Given the description of an element on the screen output the (x, y) to click on. 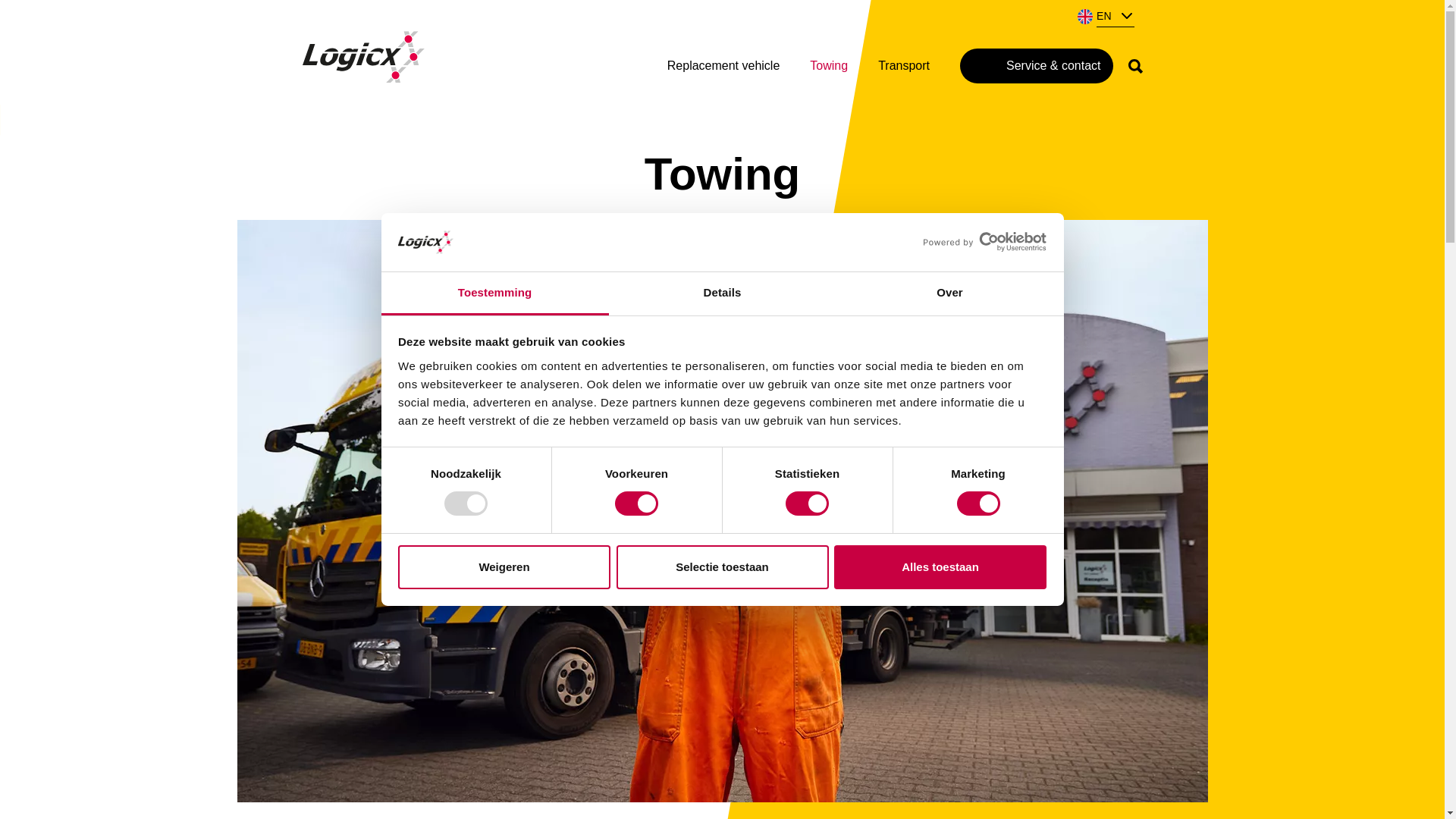
Open language preferences (1107, 15)
Details (721, 293)
Over (948, 293)
Alles toestaan (940, 566)
Toestemming (494, 293)
Back to home (362, 50)
Selectie toestaan (721, 566)
Weigeren (503, 566)
